Given the description of an element on the screen output the (x, y) to click on. 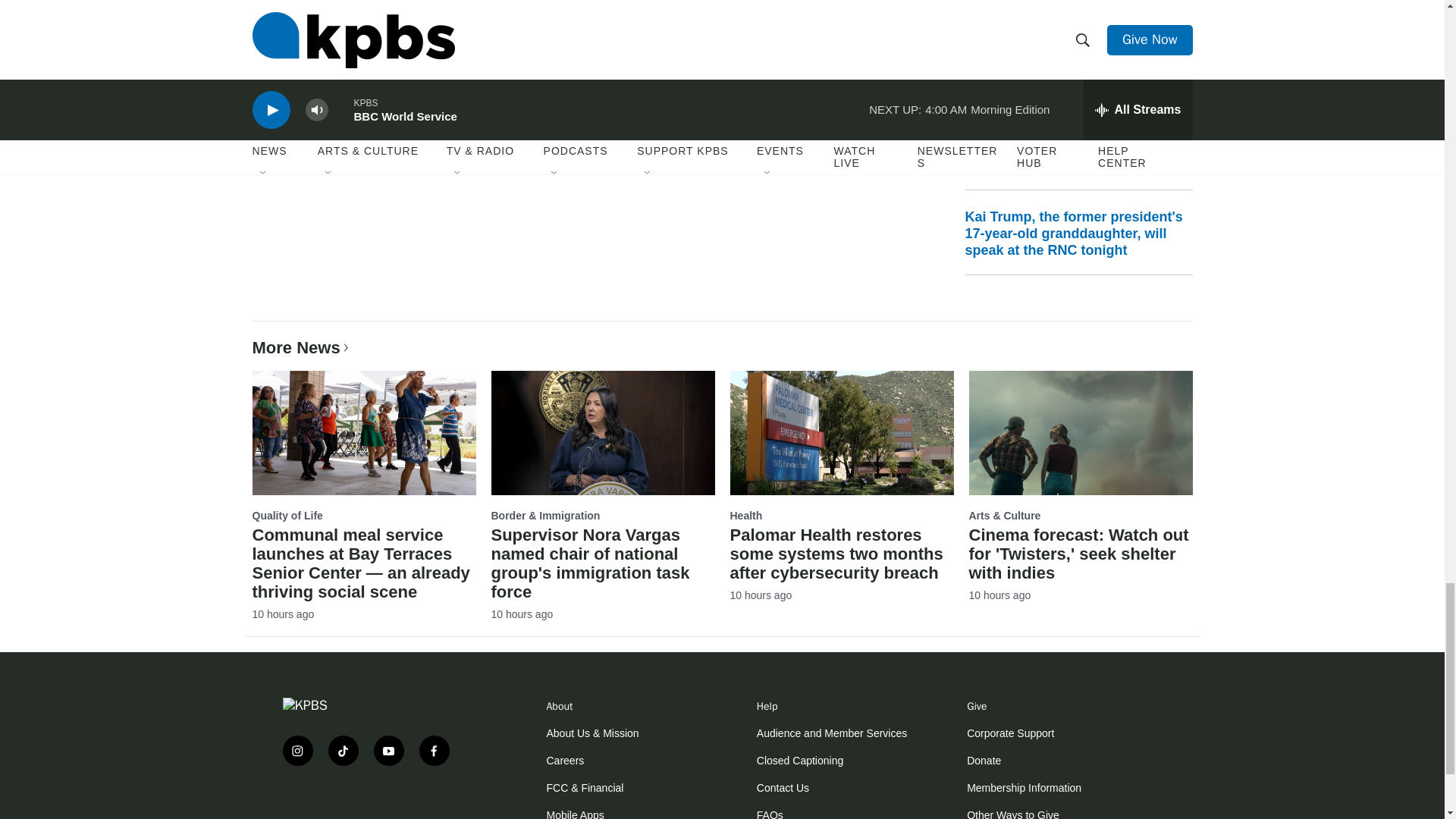
3rd party ad content (373, 811)
